Given the description of an element on the screen output the (x, y) to click on. 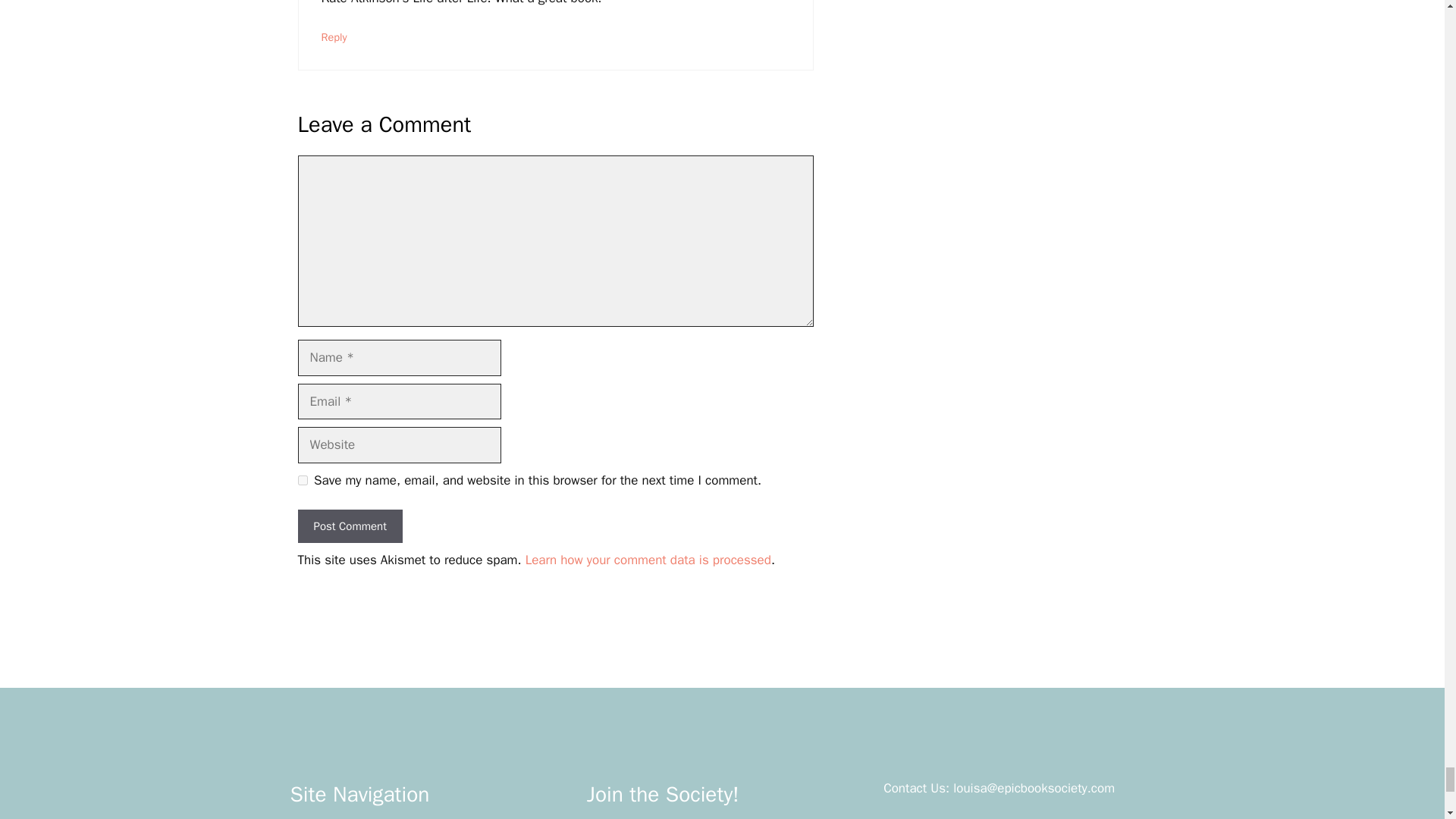
Post Comment (349, 526)
yes (302, 480)
